Given the description of an element on the screen output the (x, y) to click on. 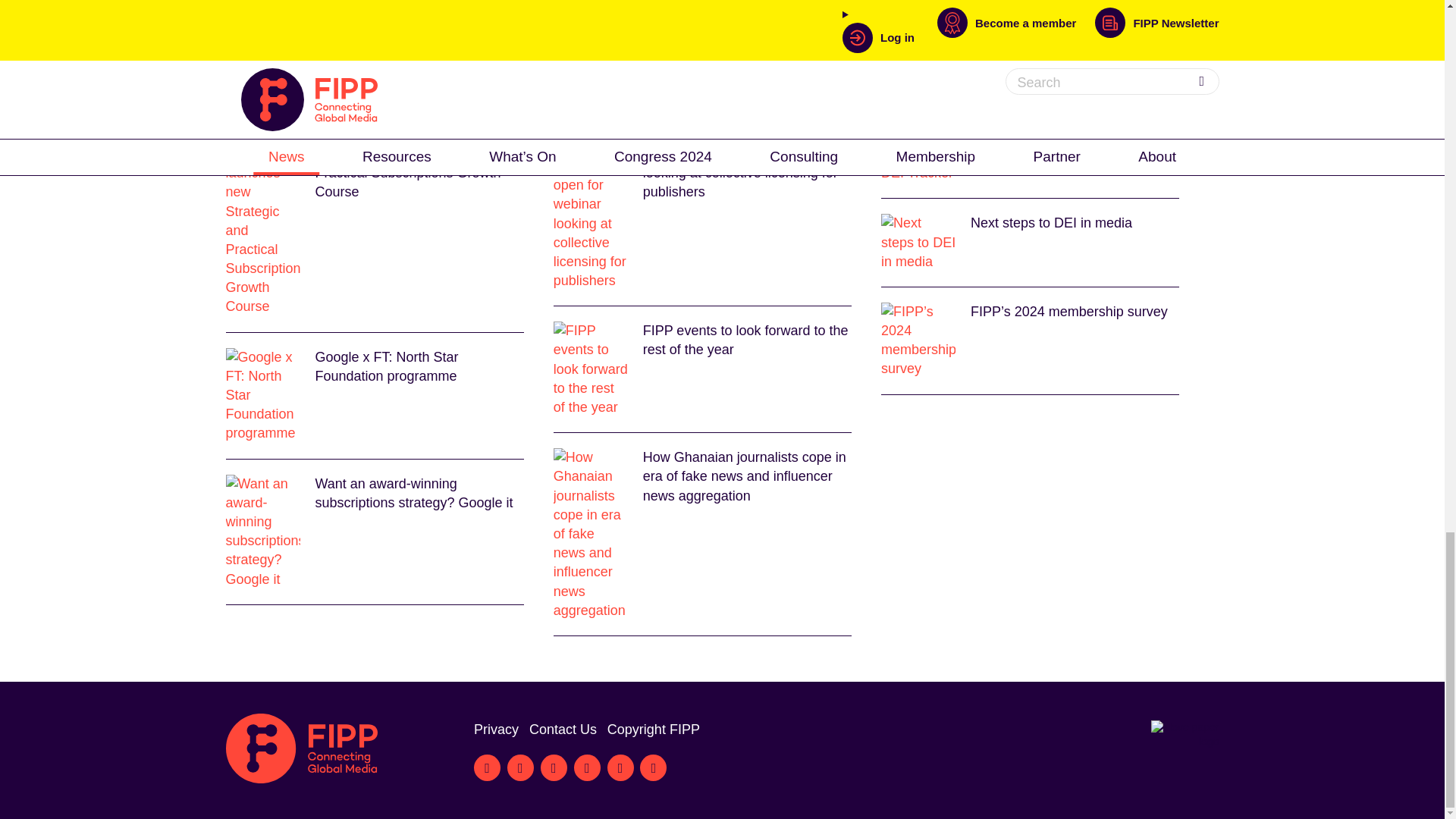
Want an award-winning subscriptions strategy? Google it (374, 531)
ft strategies (575, 45)
Google x FT: North Star Foundation programme (374, 395)
reader revenues (724, 45)
training (807, 45)
google (643, 45)
events (509, 45)
digital media (439, 45)
